Given the description of an element on the screen output the (x, y) to click on. 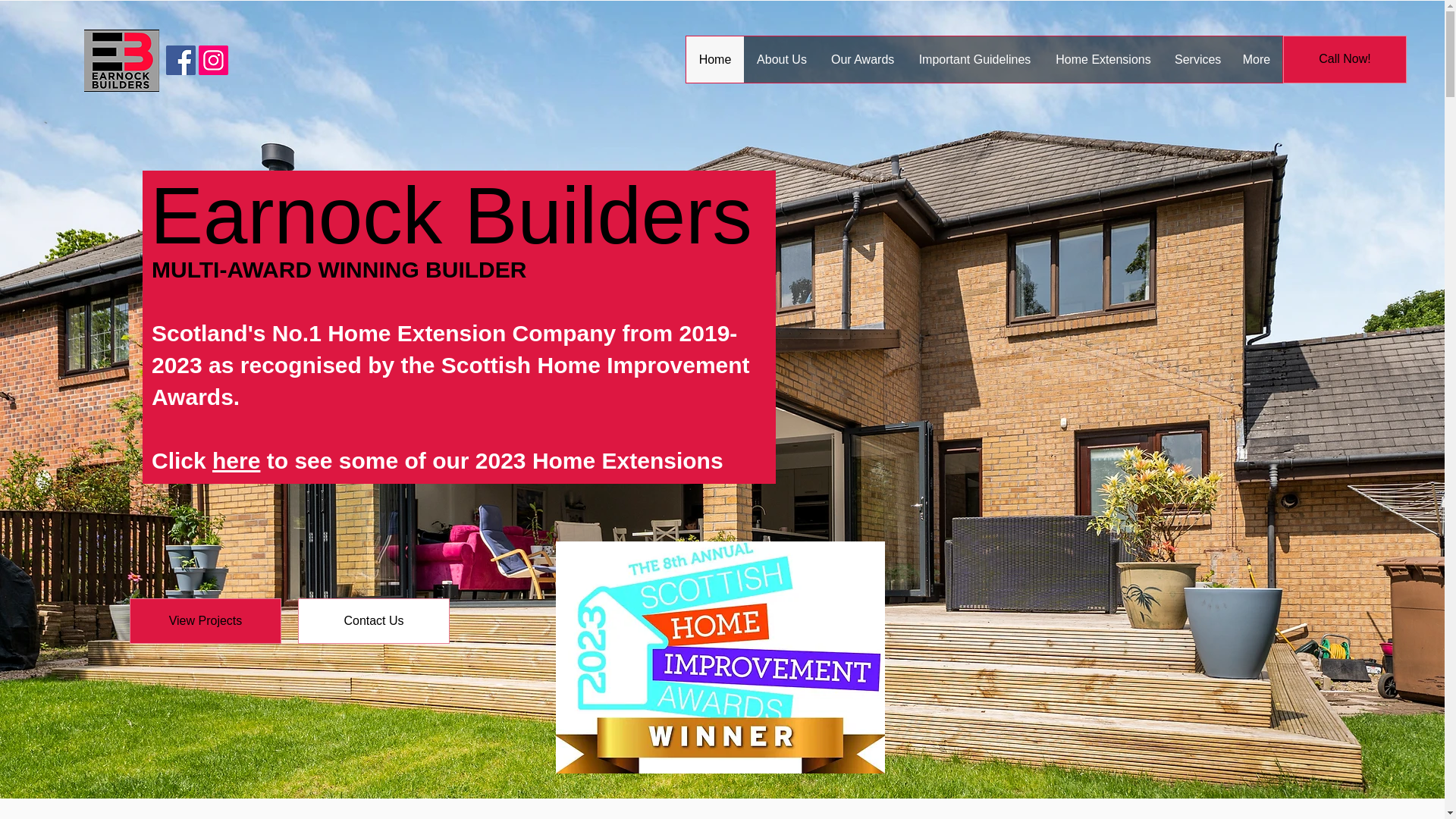
Home Extensions (1102, 59)
Call Now! (1344, 59)
Services (1195, 59)
About Us (781, 59)
Contact Us (373, 620)
Home (714, 59)
here (236, 460)
Our Awards (861, 59)
View Projects (205, 620)
Important Guidelines (974, 59)
